Given the description of an element on the screen output the (x, y) to click on. 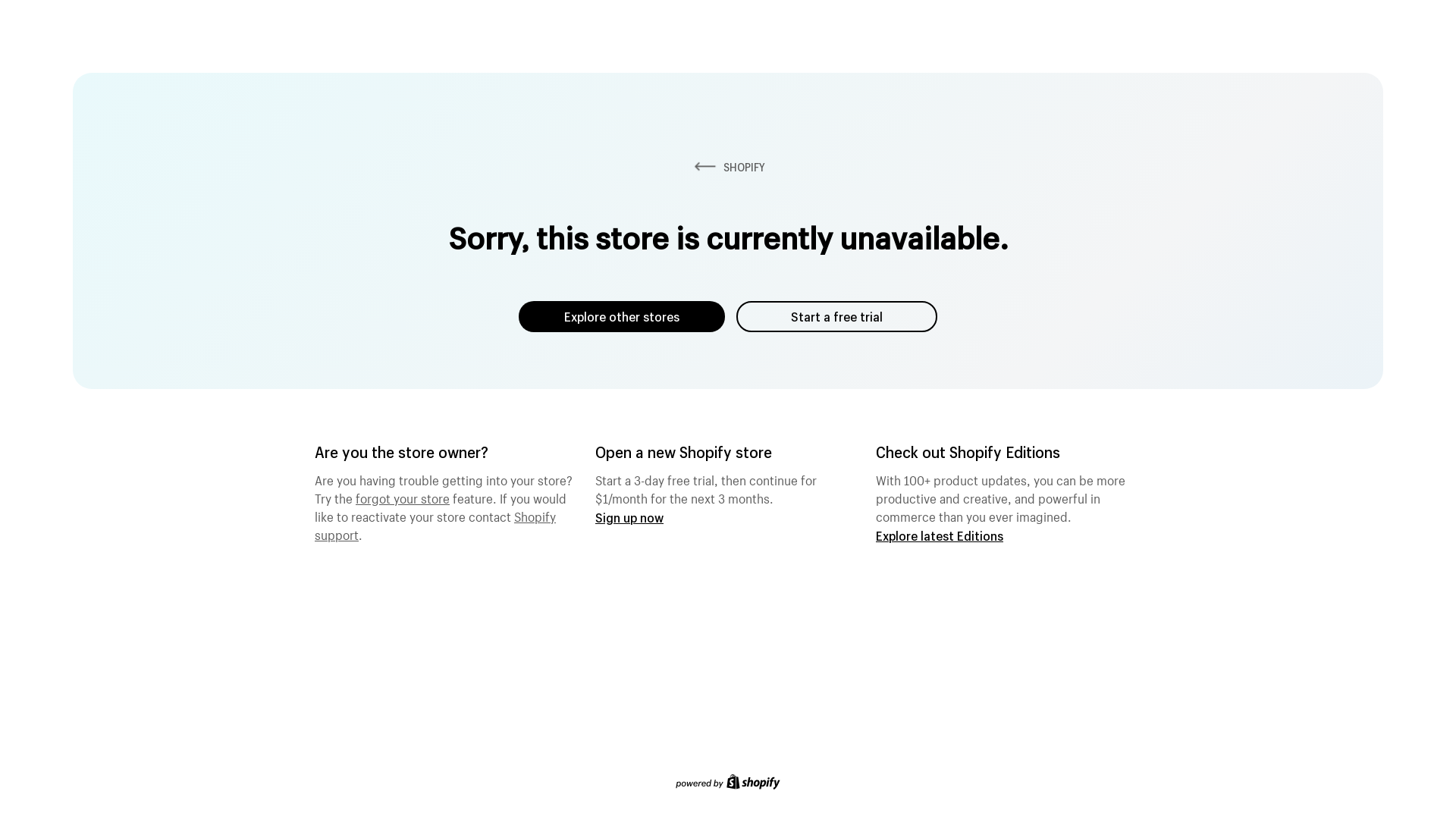
Shopify support Element type: text (434, 523)
Start a free trial Element type: text (836, 316)
forgot your store Element type: text (402, 496)
Sign up now Element type: text (629, 517)
SHOPIFY Element type: text (727, 167)
Explore other stores Element type: text (621, 316)
Explore latest Editions Element type: text (939, 535)
